Given the description of an element on the screen output the (x, y) to click on. 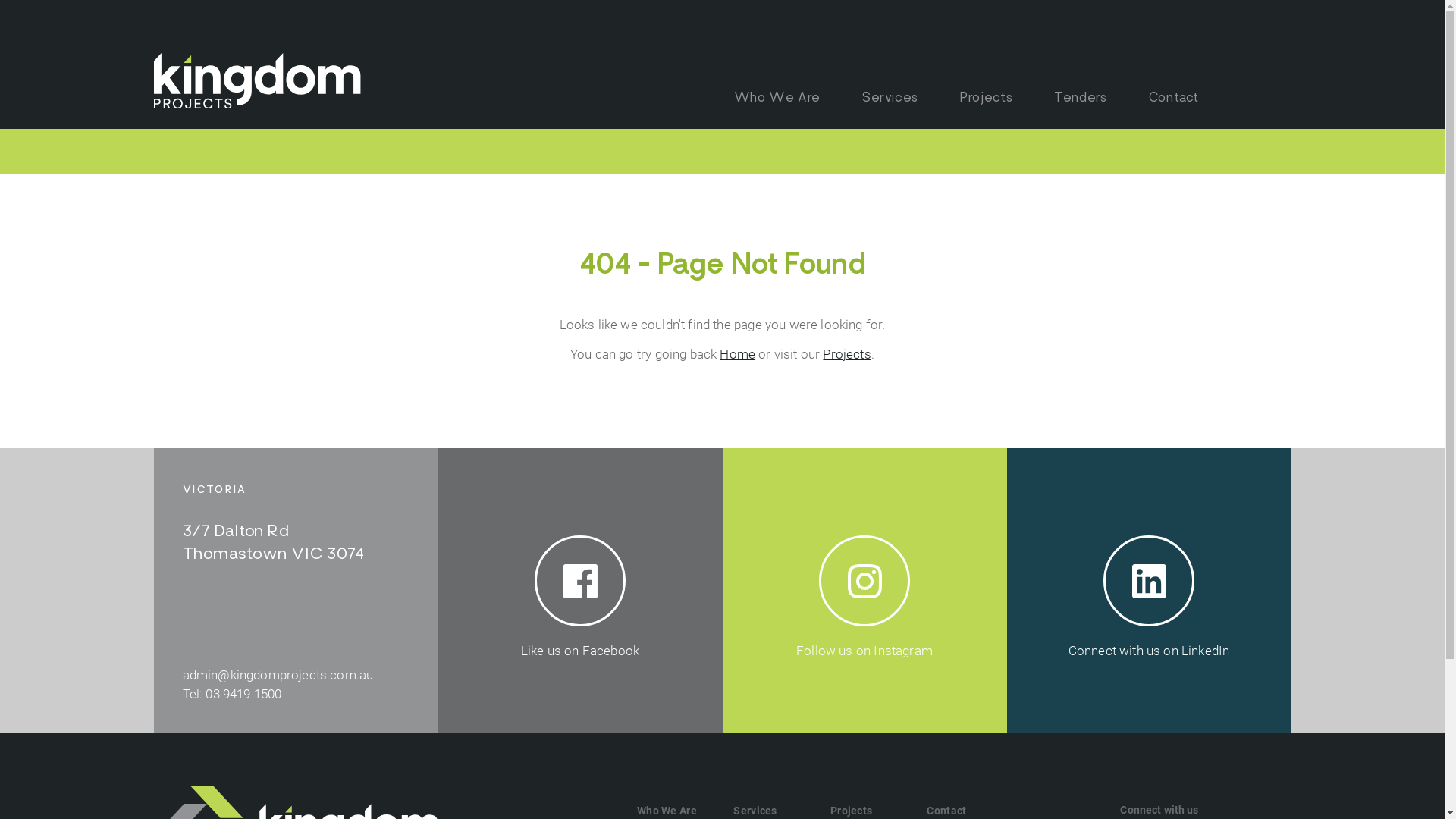
Projects Element type: text (851, 810)
Contact Element type: text (946, 810)
Tenders Element type: text (1080, 98)
Who We Are Element type: text (666, 810)
Who We Are Element type: text (777, 98)
Contact Element type: text (1173, 98)
Connect with us on LinkedIn Element type: text (1149, 590)
Home Element type: text (737, 353)
Services Element type: text (890, 98)
Follow us on Instagram Element type: text (863, 590)
03 9419 1500 Element type: text (243, 693)
Projects Element type: text (986, 98)
Projects Element type: text (846, 353)
admin@kingdomprojects.com.au Element type: text (277, 674)
Services Element type: text (754, 810)
Like us on Facebook Element type: text (580, 590)
